Given the description of an element on the screen output the (x, y) to click on. 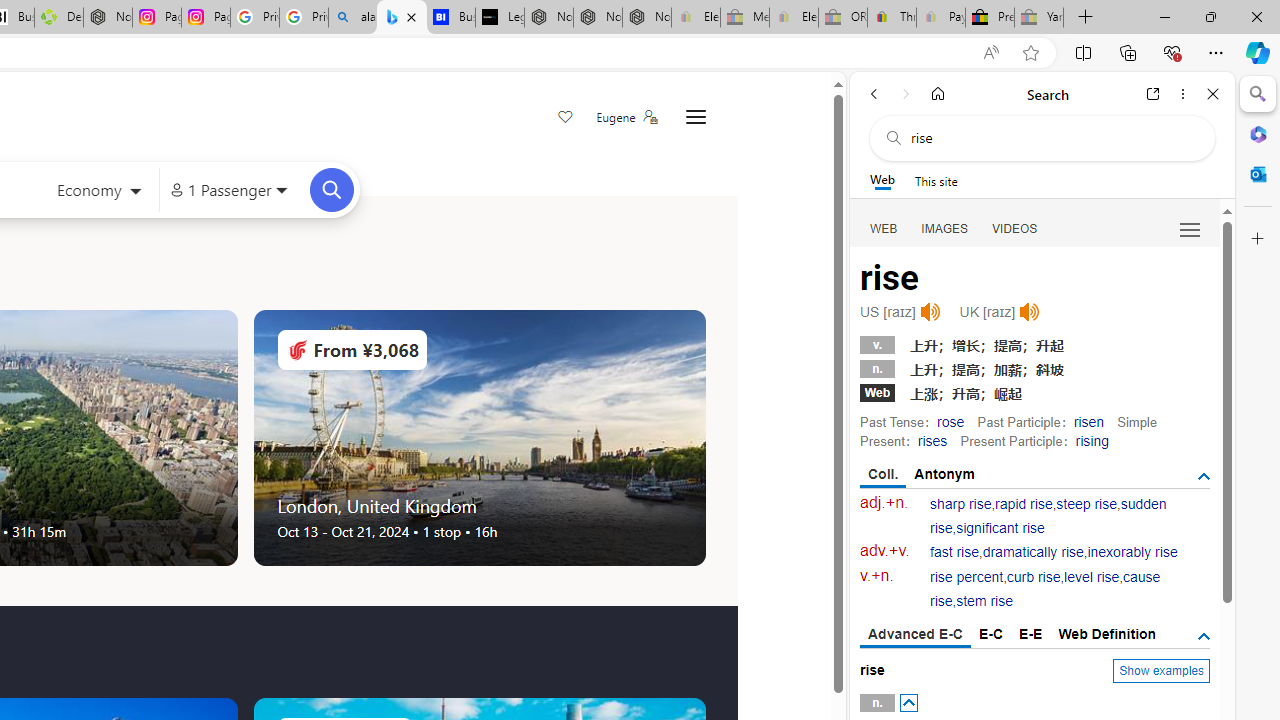
inexorably rise (1131, 552)
AutomationID: posbtn_0 (908, 703)
1 Passenger (228, 189)
E-C (991, 633)
